Given the description of an element on the screen output the (x, y) to click on. 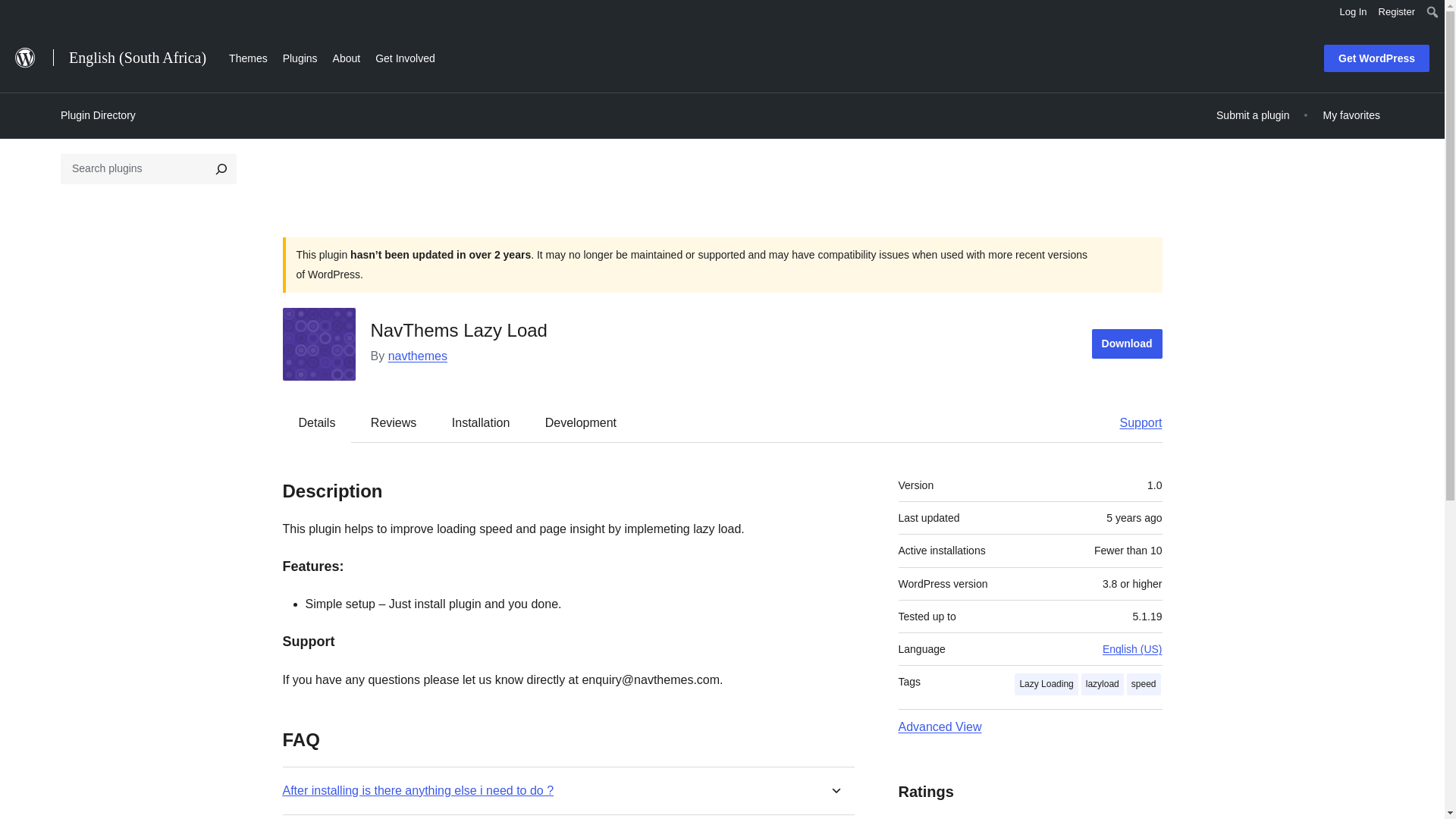
Reviews (392, 422)
My favorites (1351, 115)
Get Involved (405, 56)
Lazy Loading (1045, 684)
Search (16, 13)
Download (1126, 344)
Installation (480, 422)
Development (580, 422)
Register (1397, 12)
Log In (1353, 12)
Get WordPress (1376, 58)
Support (1132, 422)
Submit a plugin (1253, 115)
After installing is there anything else i need to do ? (417, 789)
navthemes (417, 355)
